Given the description of an element on the screen output the (x, y) to click on. 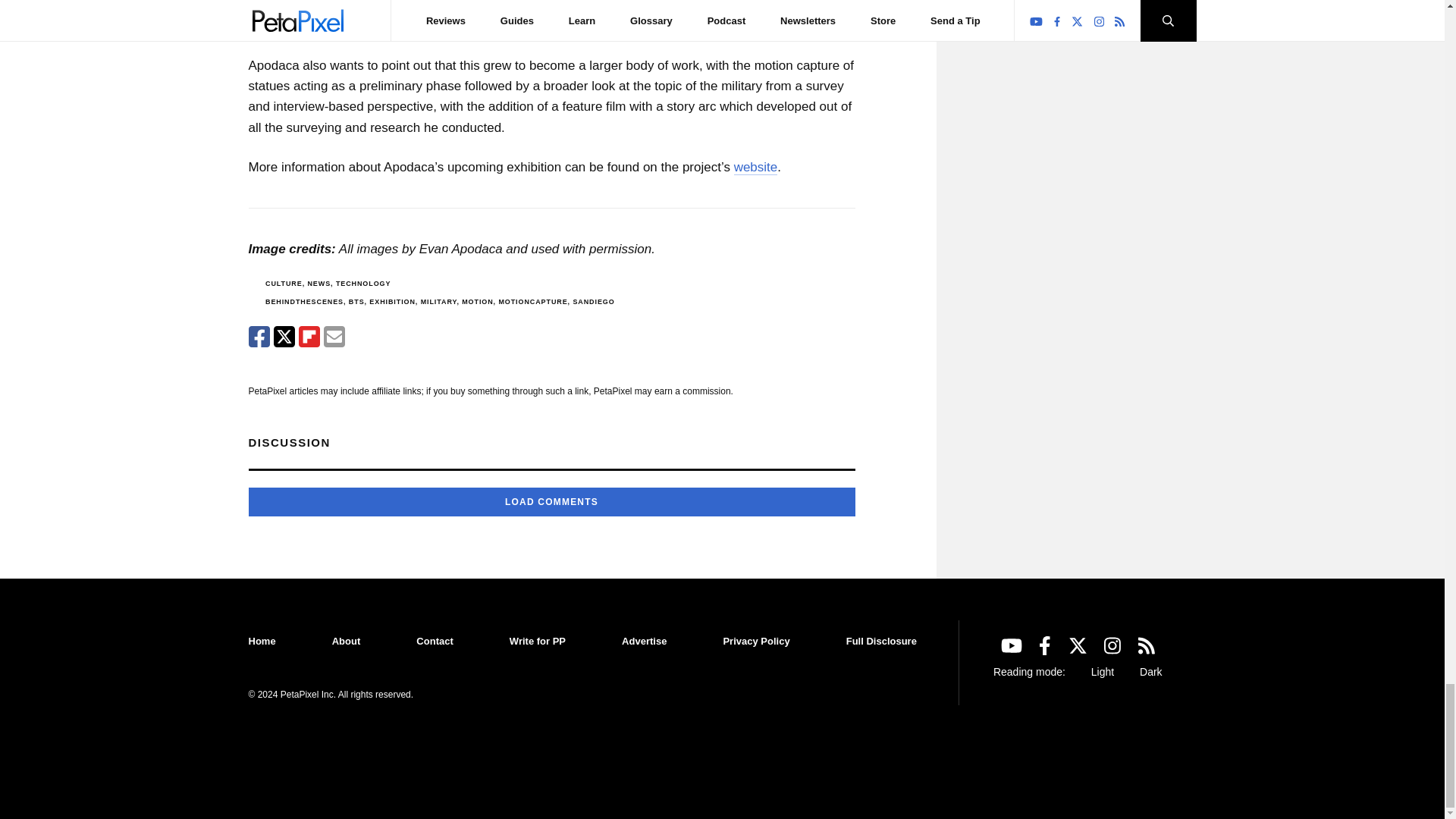
Share on X (283, 336)
CULTURE (283, 283)
MILITARY (438, 301)
SANDIEGO (593, 301)
Email this article (333, 336)
Share on Flipboard (309, 336)
BEHINDTHESCENES (303, 301)
NEWS (318, 283)
TECHNOLOGY (363, 283)
BTS (357, 301)
EXHIBITION (391, 301)
MOTIONCAPTURE (532, 301)
Share on facebook (258, 336)
MOTION (477, 301)
website (755, 167)
